Given the description of an element on the screen output the (x, y) to click on. 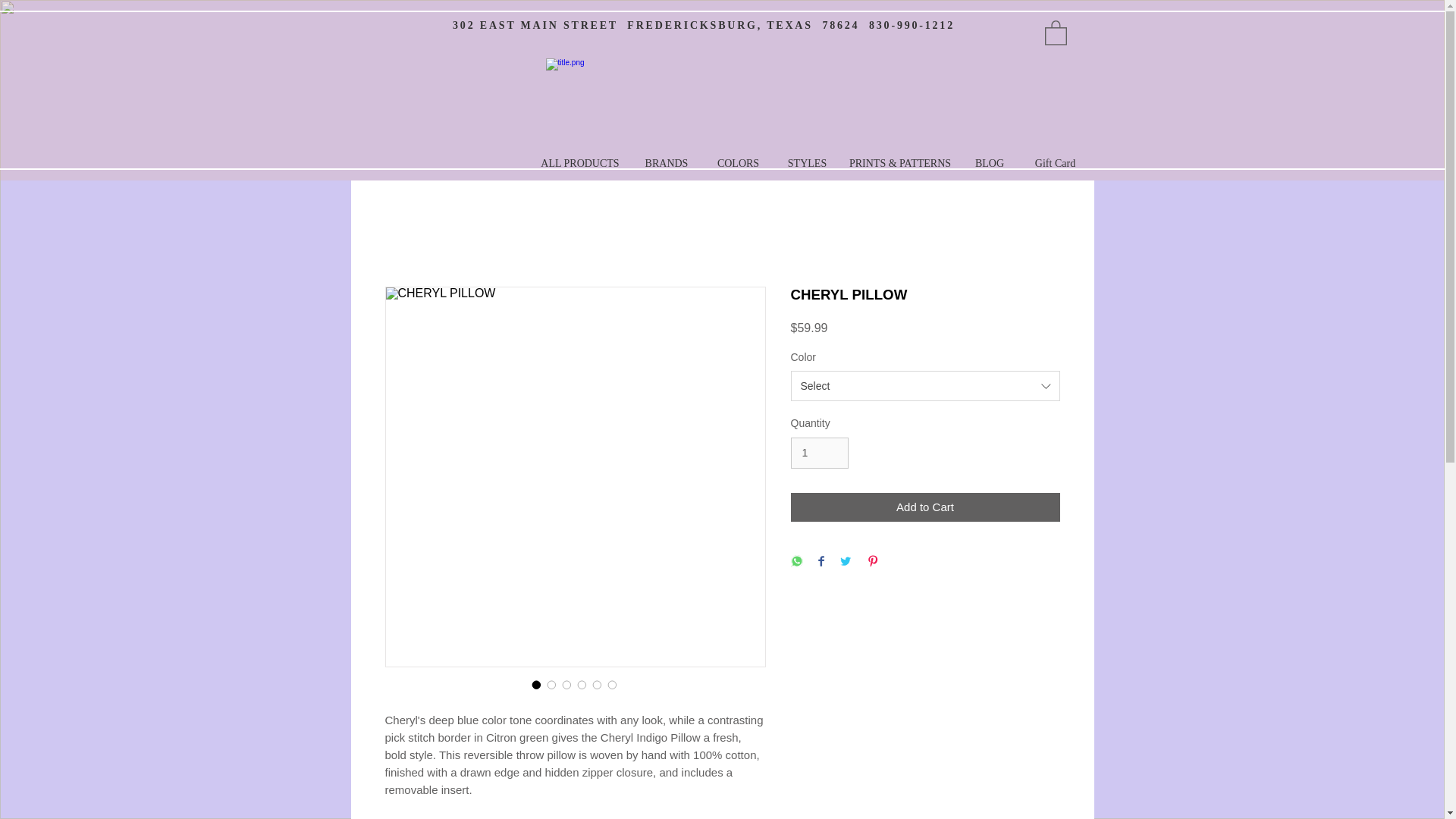
STYLES (807, 163)
BRANDS (665, 163)
COLORS (737, 163)
1 (818, 452)
ALL PRODUCTS (580, 163)
